Given the description of an element on the screen output the (x, y) to click on. 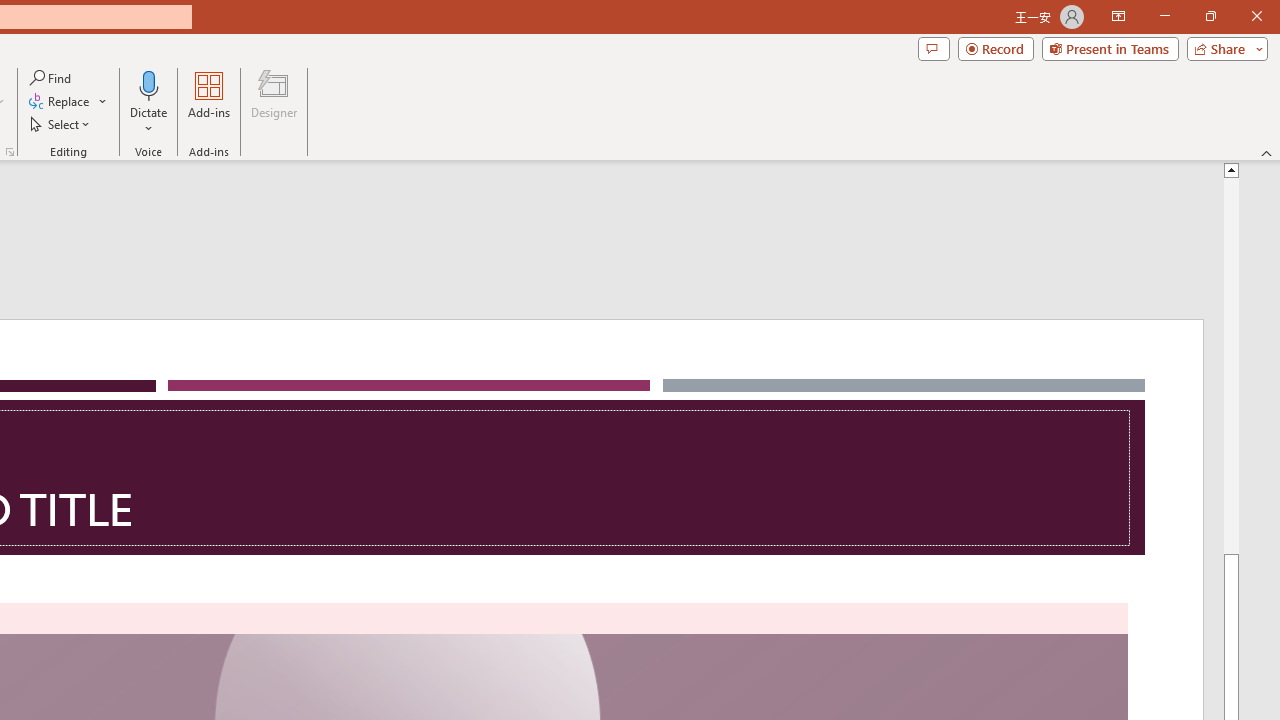
Find... (51, 78)
Replace... (60, 101)
Minimize (1164, 16)
Format Object... (9, 151)
Designer (274, 102)
